Given the description of an element on the screen output the (x, y) to click on. 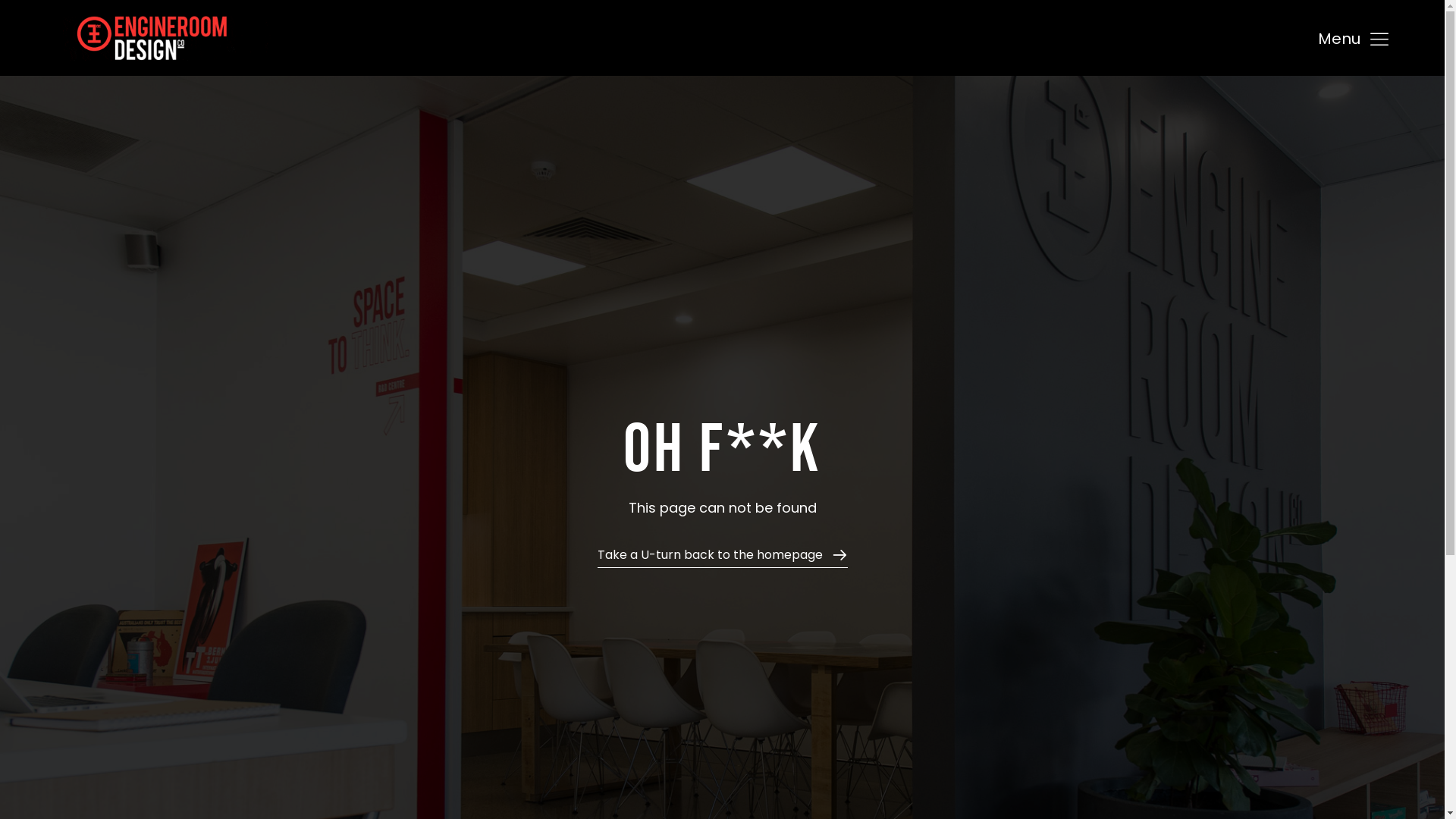
ERD-Logo-Header-Animation-400px Element type: hover (163, 37)
Take a U-turn back to the homepage Element type: text (722, 557)
Menu Element type: text (1354, 39)
